Given the description of an element on the screen output the (x, y) to click on. 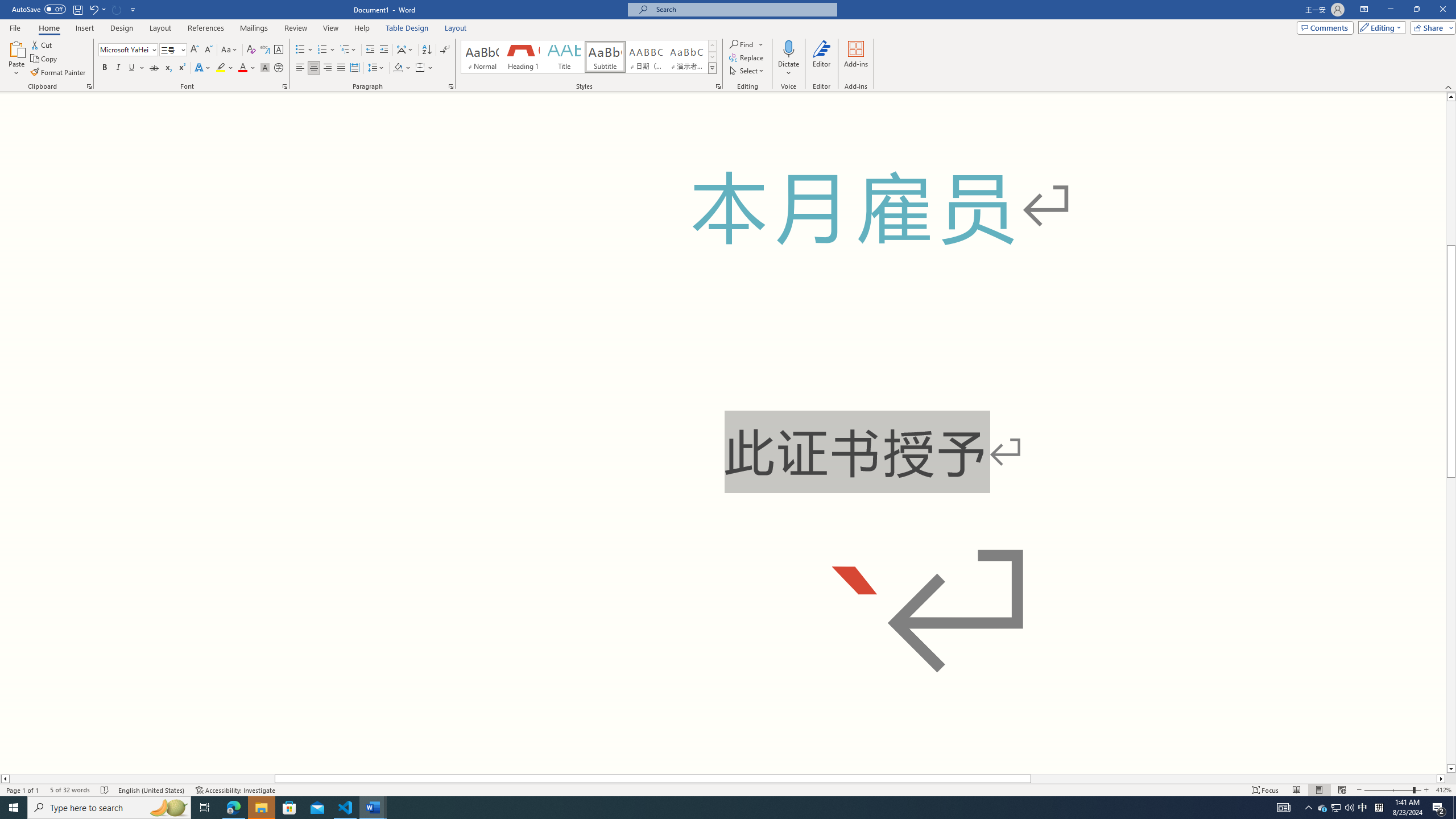
Text Highlight Color Yellow (220, 67)
View (330, 28)
Borders (424, 67)
Font Size (169, 49)
Word Count 5 of 32 words (69, 790)
Row up (711, 45)
Page up (1450, 172)
Column right (1441, 778)
Enclose Characters... (278, 67)
Page right (1233, 778)
Web Layout (1342, 790)
Strikethrough (154, 67)
AutoSave (38, 9)
Zoom Out (1388, 790)
